Given the description of an element on the screen output the (x, y) to click on. 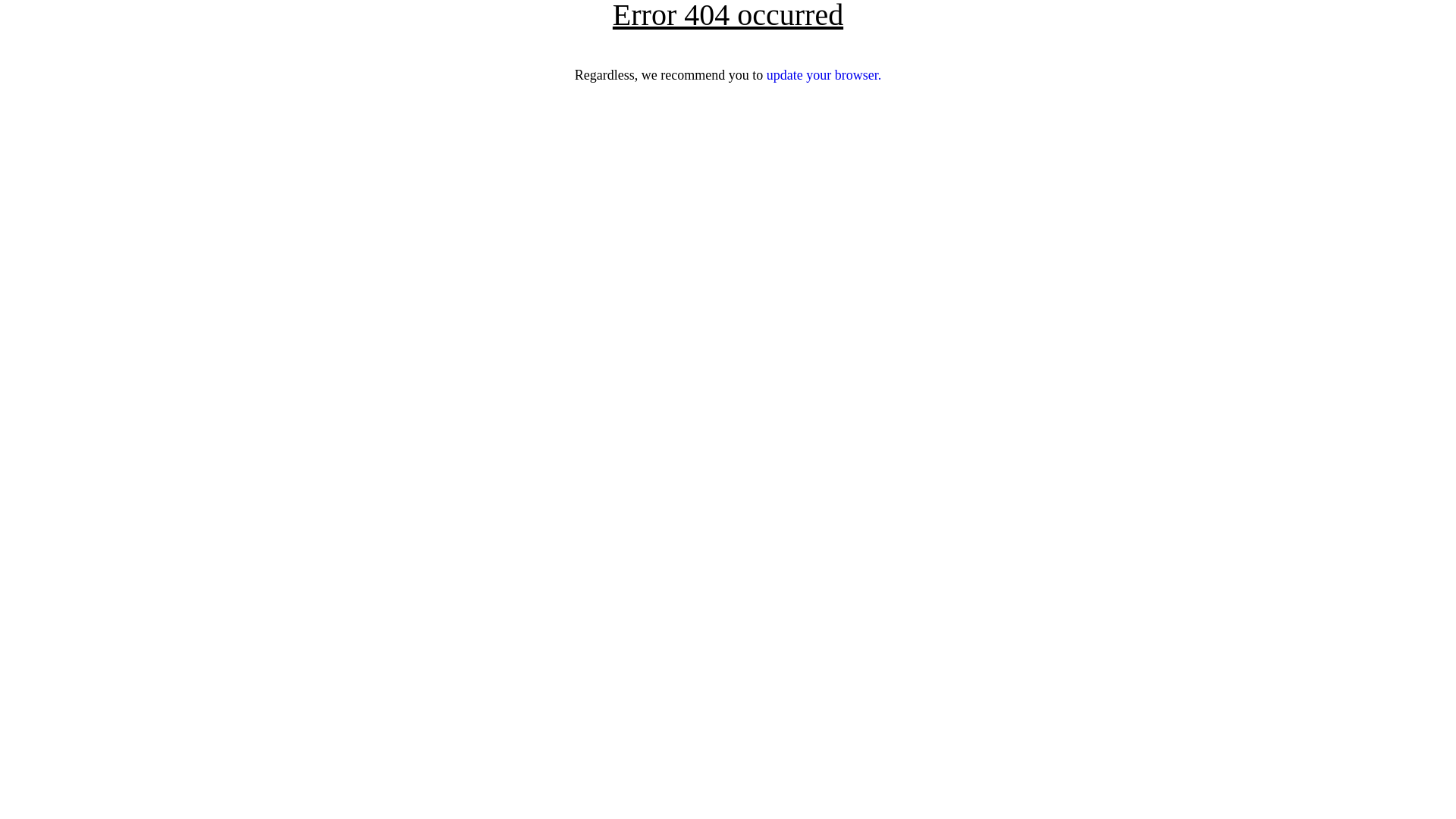
update your browser. Element type: text (823, 74)
